Given the description of an element on the screen output the (x, y) to click on. 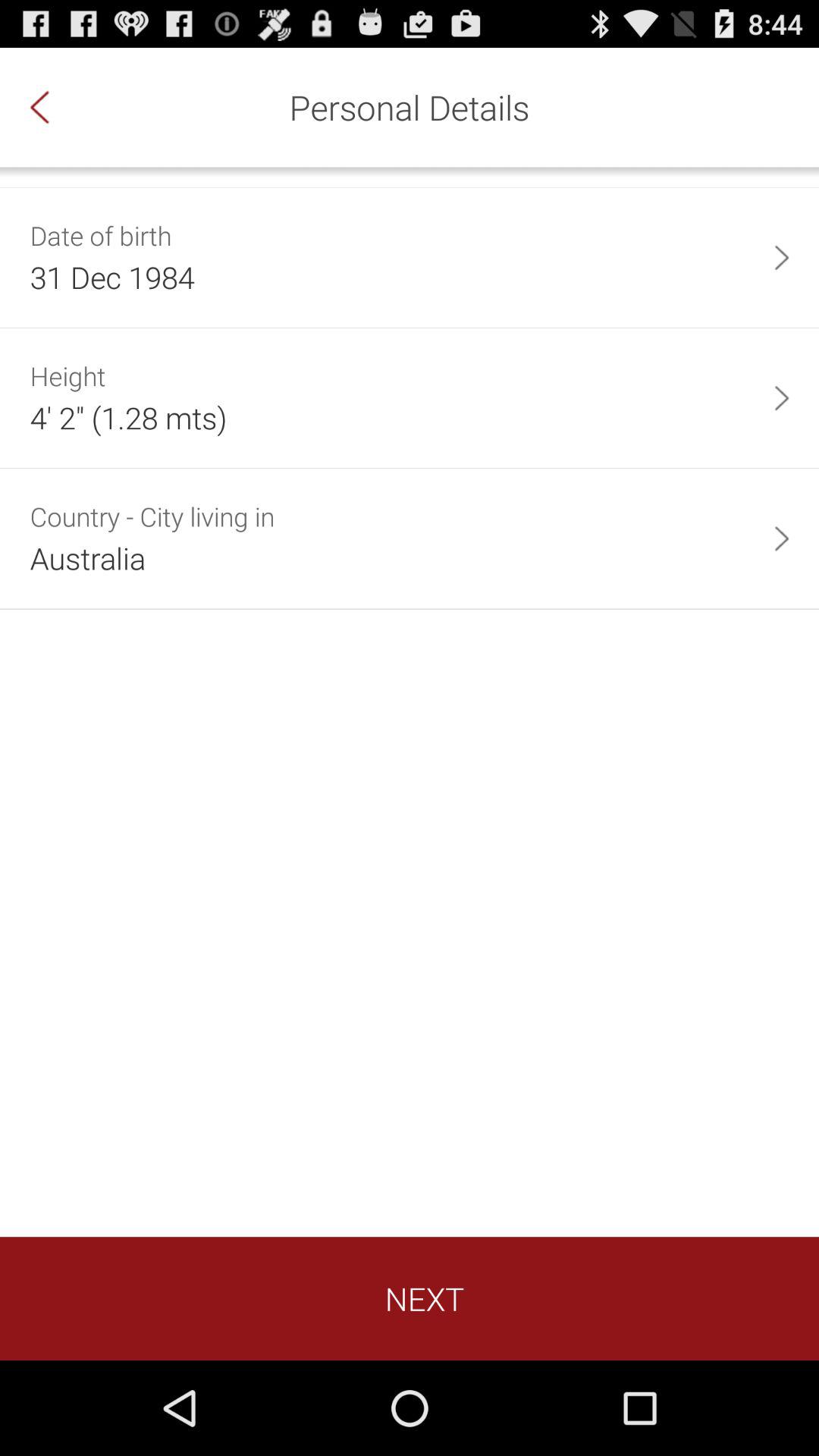
open the app to the right of 31 dec 1984 app (781, 257)
